Given the description of an element on the screen output the (x, y) to click on. 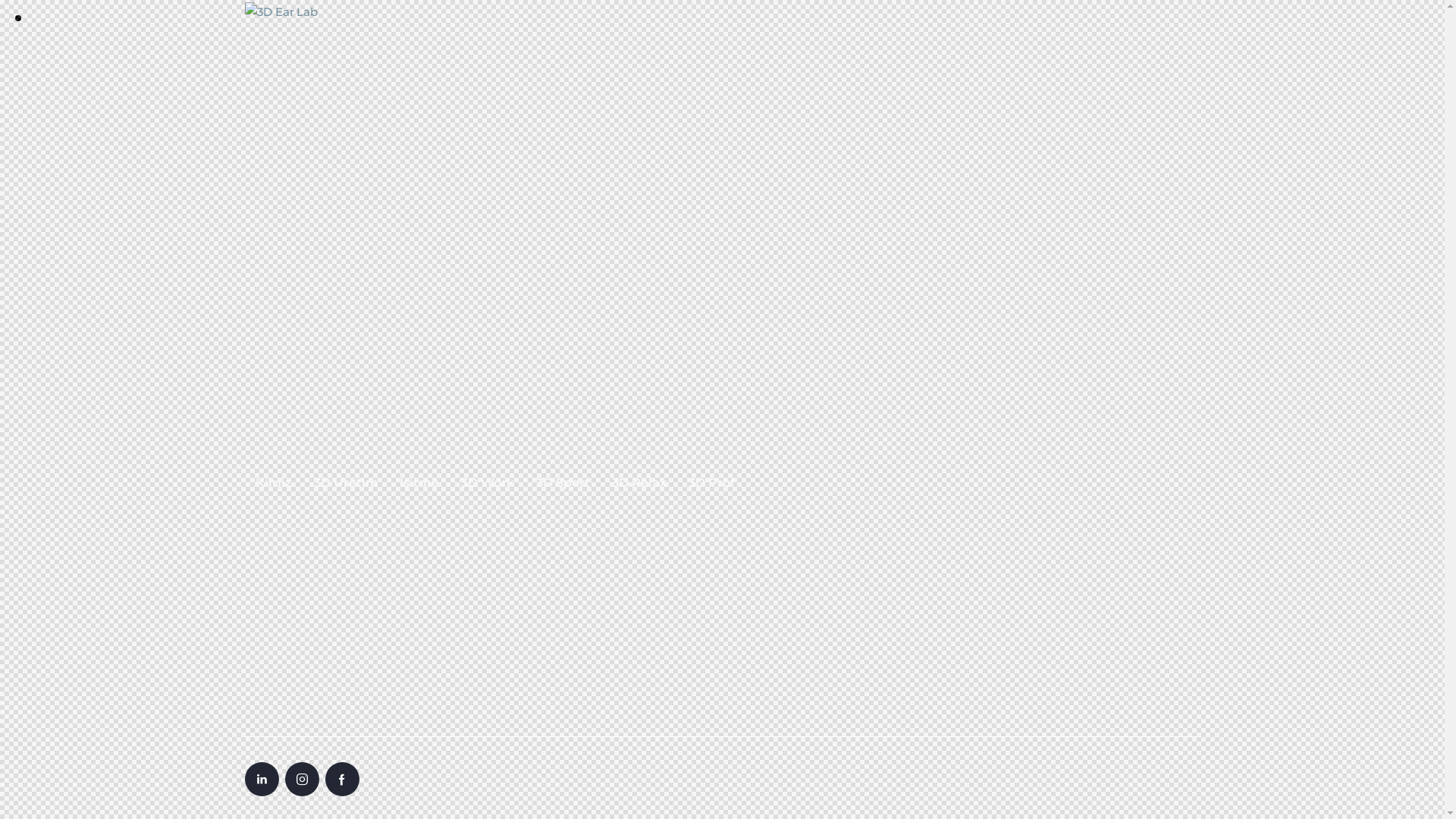
Kimiz Element type: text (273, 482)
3D Work Element type: text (487, 482)
3D Sport Element type: text (563, 482)
3D Relax Element type: text (638, 482)
3D Prof Element type: text (711, 482)
